Given the description of an element on the screen output the (x, y) to click on. 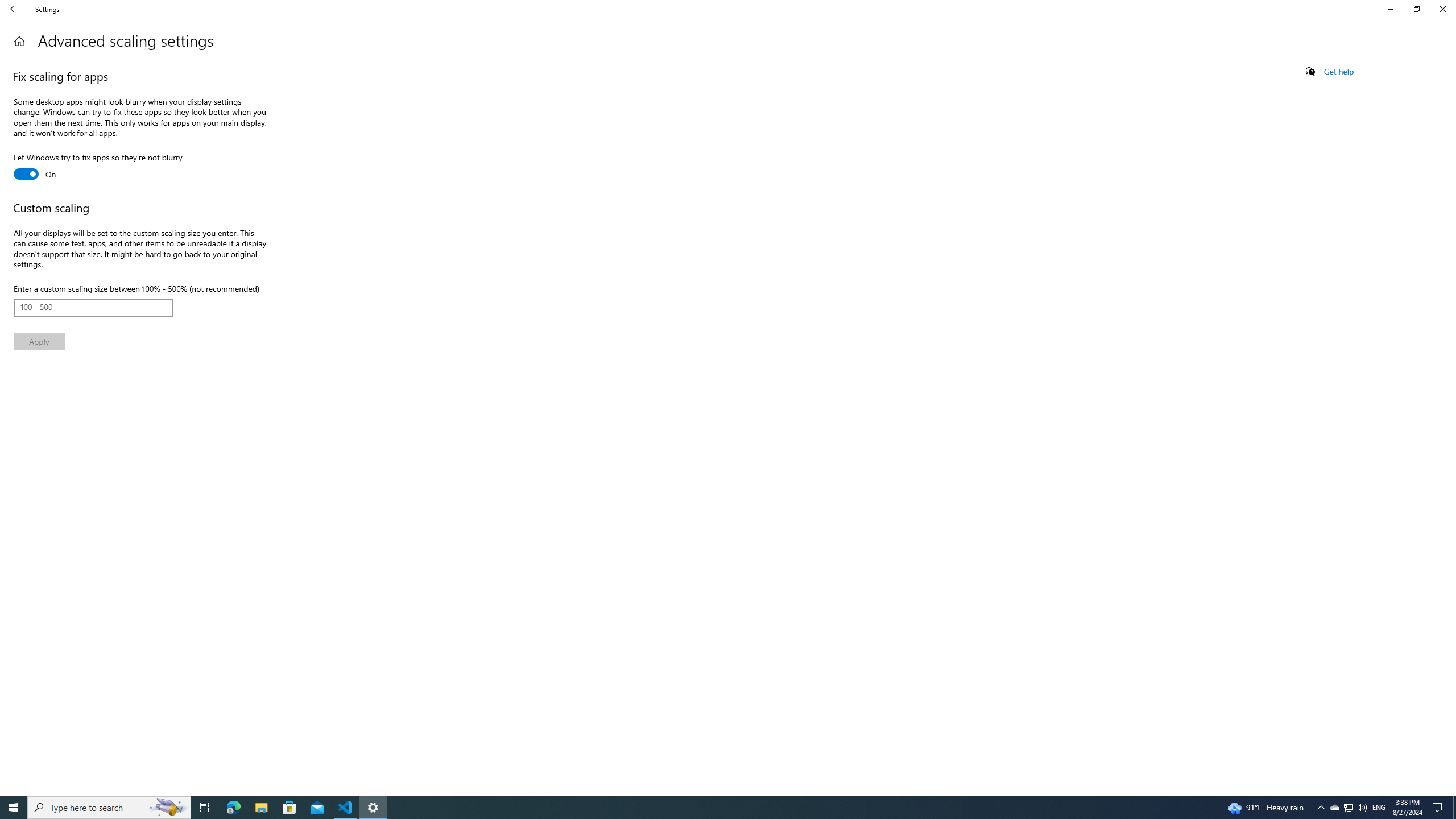
Start (13, 807)
Type here to search (108, 807)
Show desktop (1454, 807)
Settings - 1 running window (373, 807)
Get help (1338, 71)
Visual Studio Code - 1 running window (345, 807)
Home (19, 40)
Q2790: 100% (1361, 807)
Action Center, No new notifications (1439, 807)
